Given the description of an element on the screen output the (x, y) to click on. 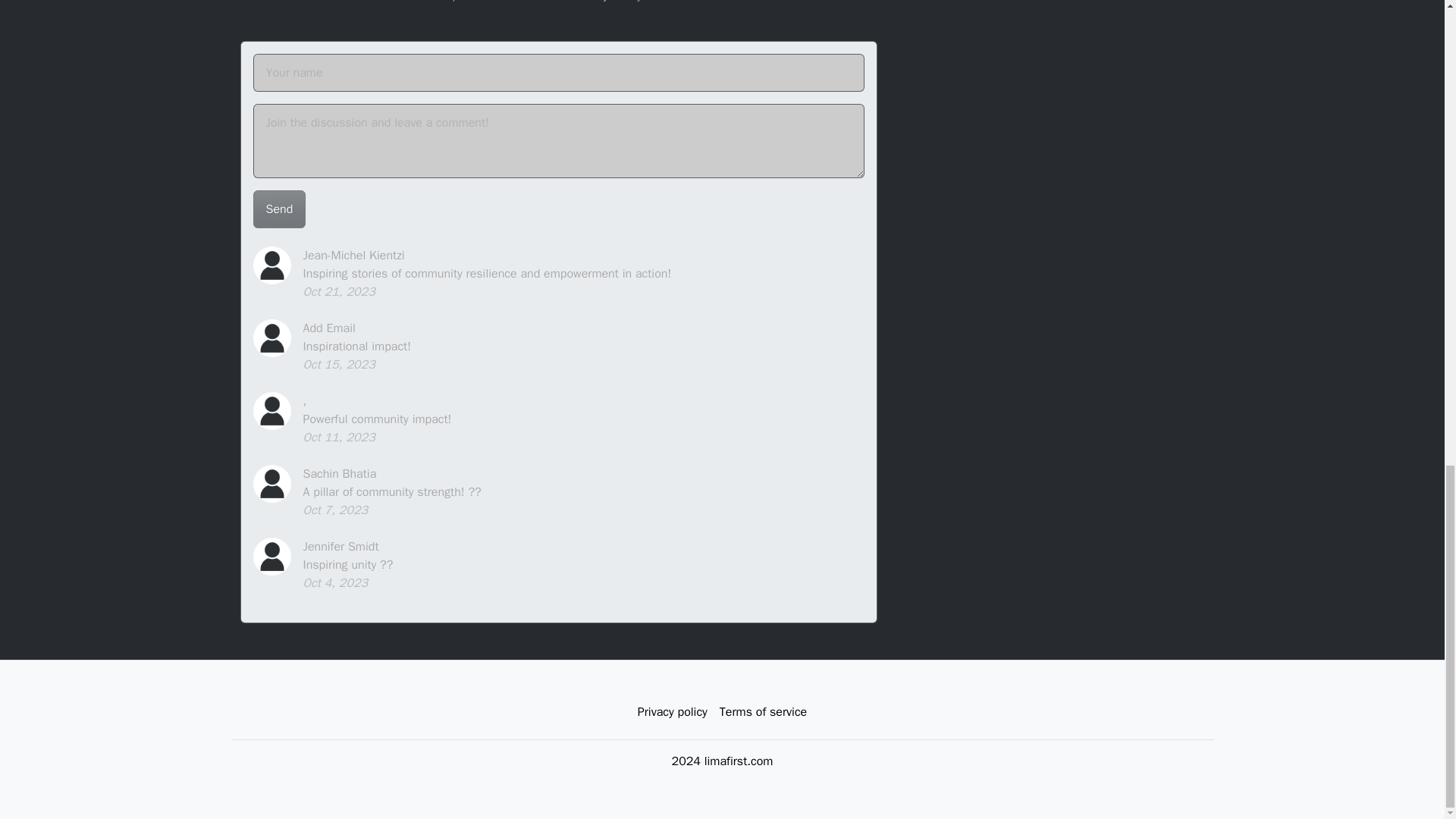
Privacy policy (672, 711)
Send (279, 209)
Terms of service (762, 711)
Send (279, 209)
